Given the description of an element on the screen output the (x, y) to click on. 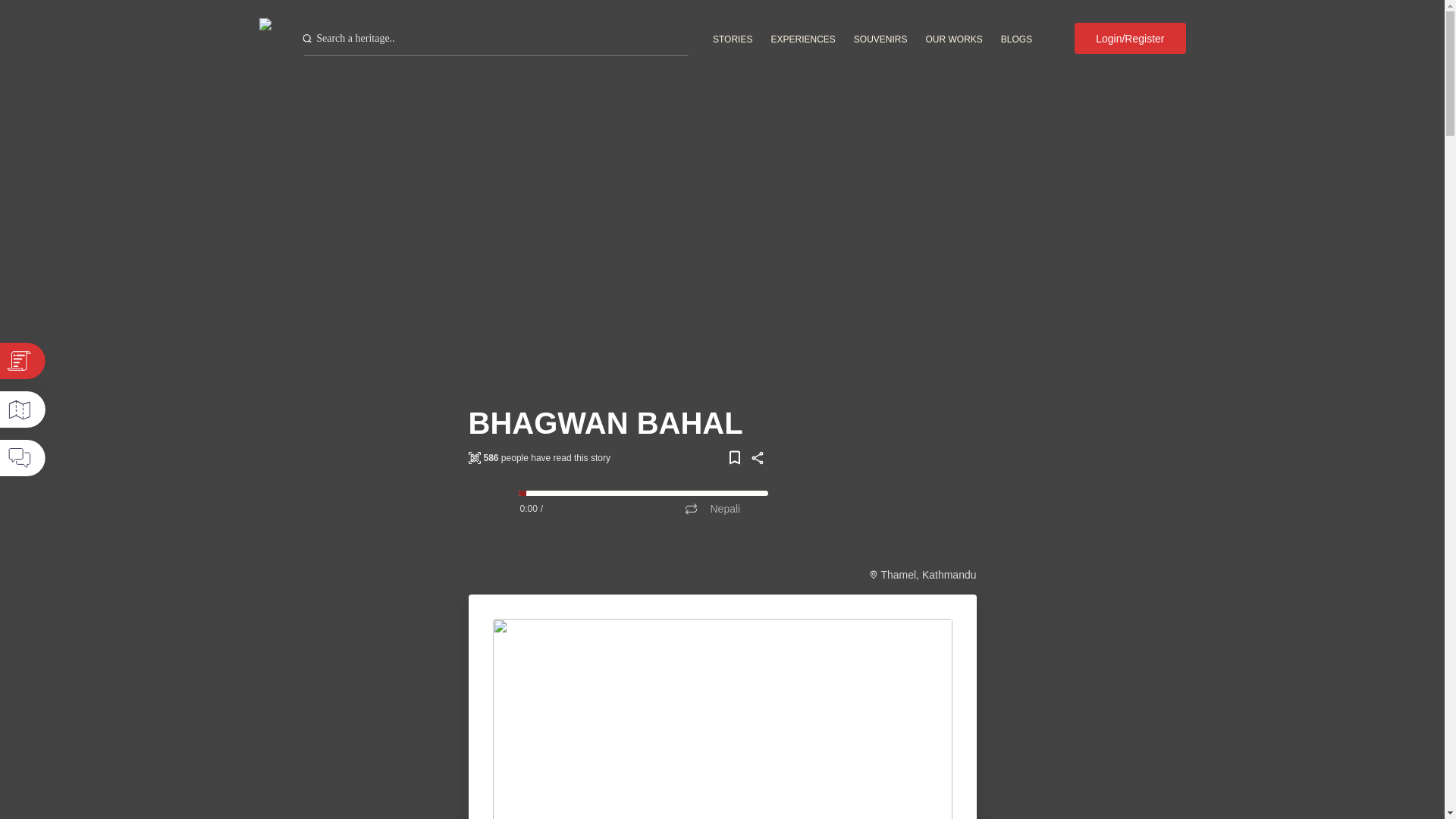
BLOGS (1016, 39)
Thamel, Kathmandu (927, 574)
SOUVENIRS (880, 39)
STORIES (732, 39)
EXPERIENCES (802, 39)
OUR WORKS (954, 39)
0 (643, 493)
